Given the description of an element on the screen output the (x, y) to click on. 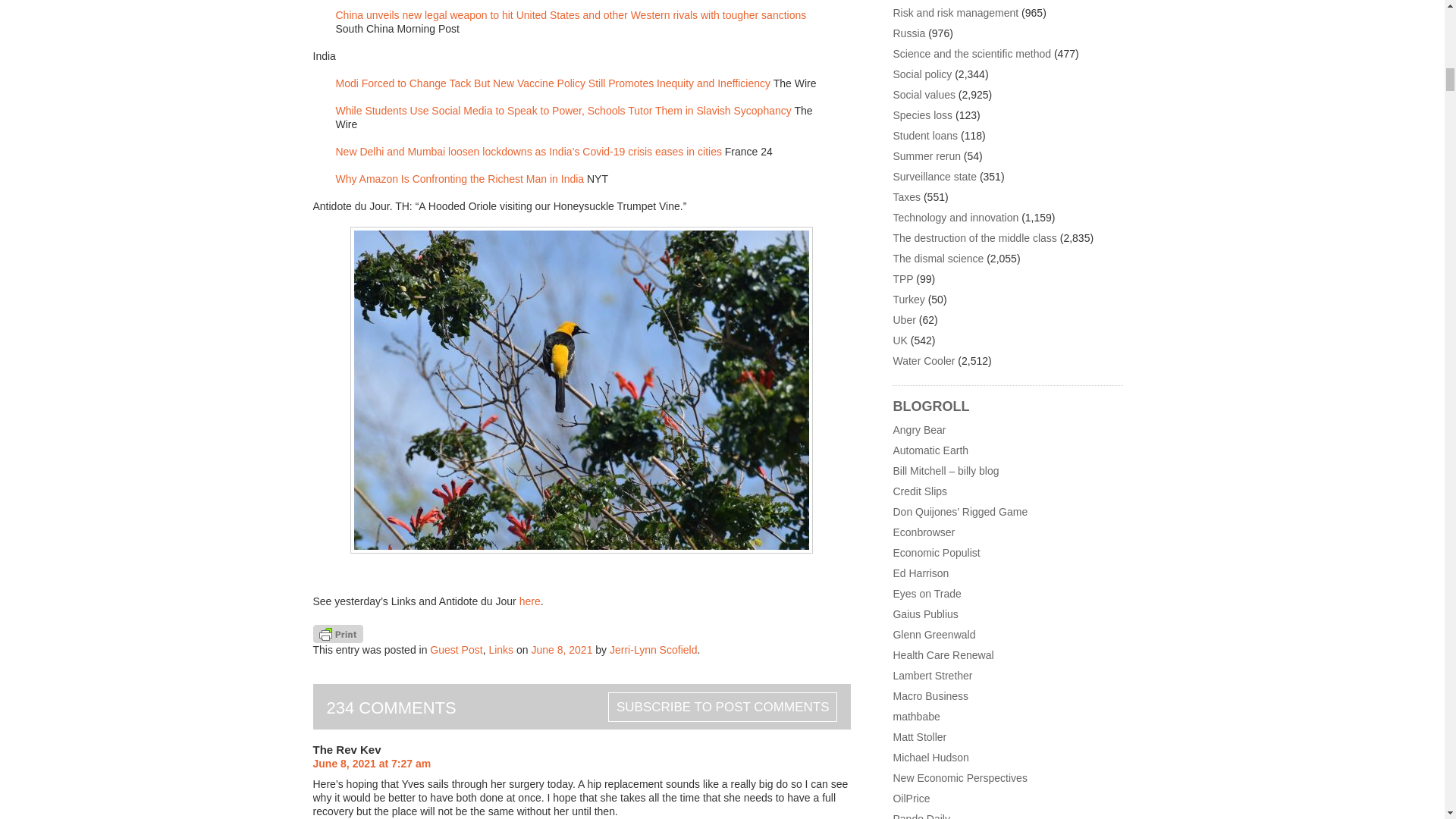
6:58 am (561, 649)
View all posts by Jerri-Lynn Scofield (653, 649)
Automatic Earth blog (930, 450)
